Given the description of an element on the screen output the (x, y) to click on. 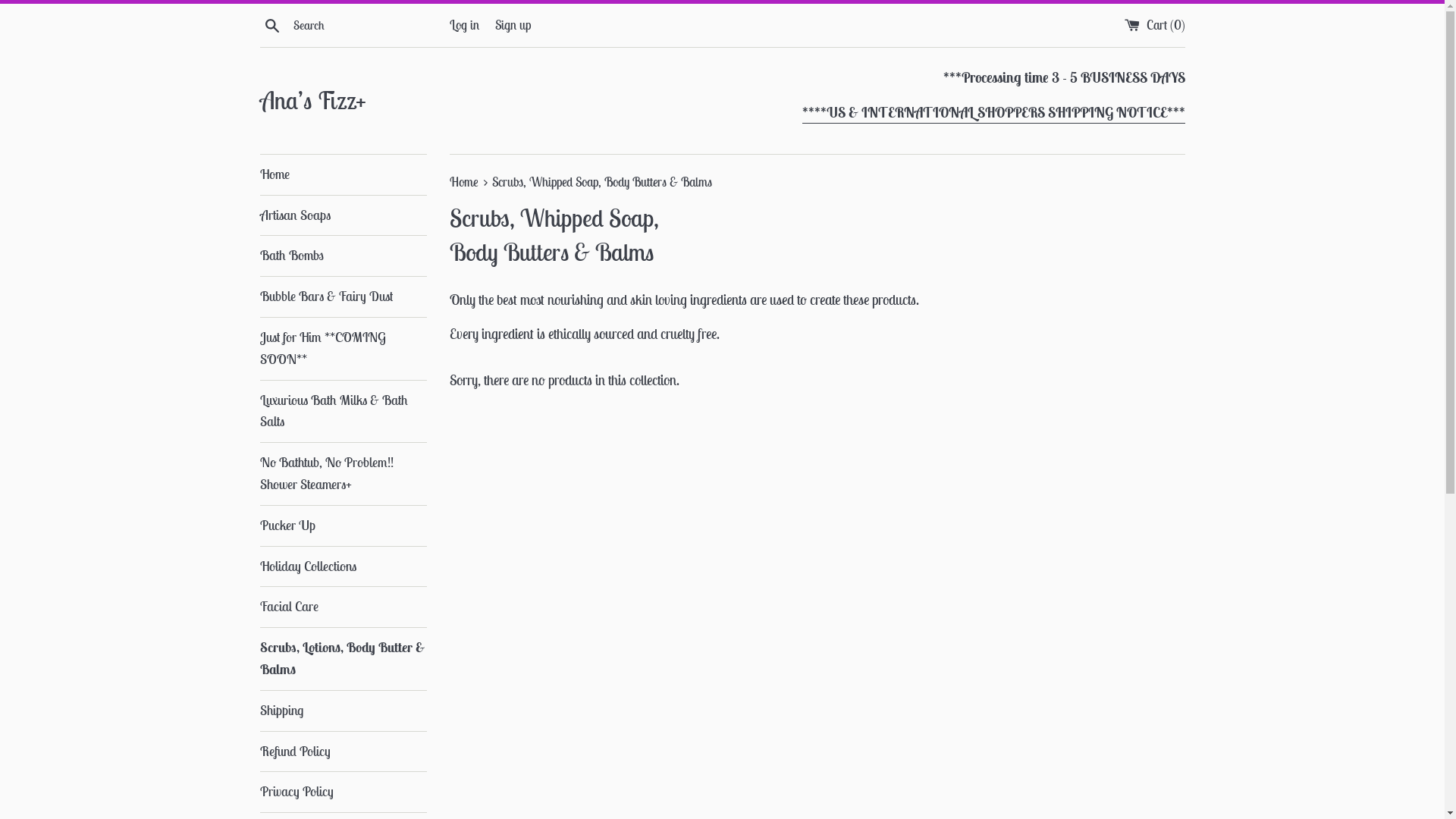
Holiday Collections Element type: text (342, 566)
Home Element type: text (464, 181)
Cart (0) Element type: text (1153, 24)
Log in Element type: text (463, 24)
Luxurious Bath Milks & Bath Salts Element type: text (342, 411)
****US & INTERNATIONAL SHOPPERS SHIPPING NOTICE*** Element type: text (993, 113)
Just for Him **COMING SOON** Element type: text (342, 348)
Bubble Bars & Fairy Dust Element type: text (342, 296)
Shipping Element type: text (342, 710)
Scrubs, Lotions, Body Butter & Balms Element type: text (342, 658)
Privacy Policy Element type: text (342, 791)
Search Element type: text (271, 24)
Refund Policy Element type: text (342, 751)
No Bathtub, No Problem!! Shower Steamers+ Element type: text (342, 473)
Facial Care Element type: text (342, 606)
Home Element type: text (342, 174)
Sign up Element type: text (512, 24)
Artisan Soaps Element type: text (342, 215)
Pucker Up Element type: text (342, 525)
Bath Bombs Element type: text (342, 255)
